Given the description of an element on the screen output the (x, y) to click on. 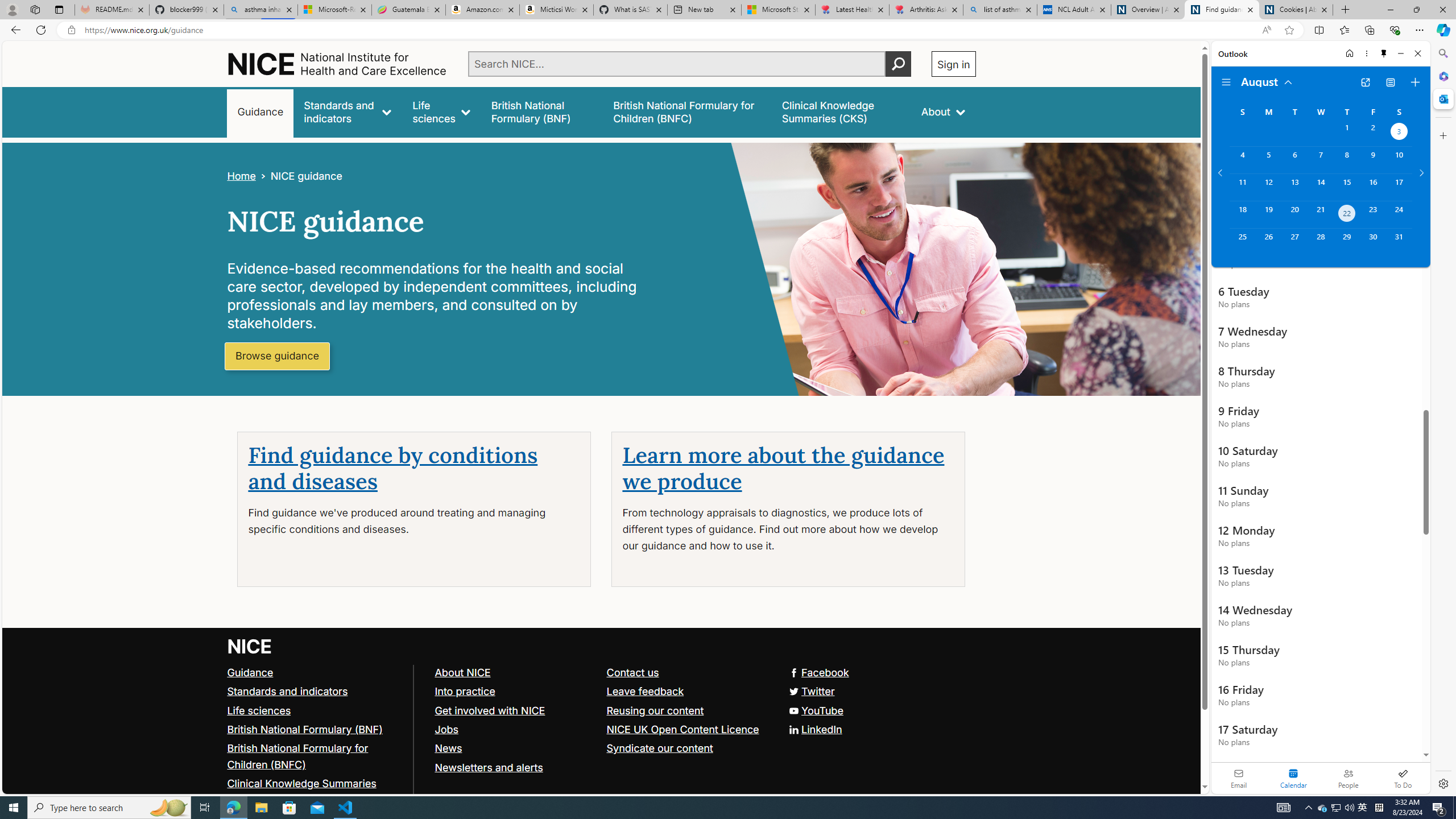
Go to NICE home page (250, 645)
Sunday, August 11, 2024.  (1242, 186)
Saturday, August 10, 2024.  (1399, 159)
asthma inhaler - Search (260, 9)
Arthritis: Ask Health Professionals (925, 9)
Saturday, August 24, 2024.  (1399, 214)
YouTube (815, 710)
Perform search (898, 63)
